Given the description of an element on the screen output the (x, y) to click on. 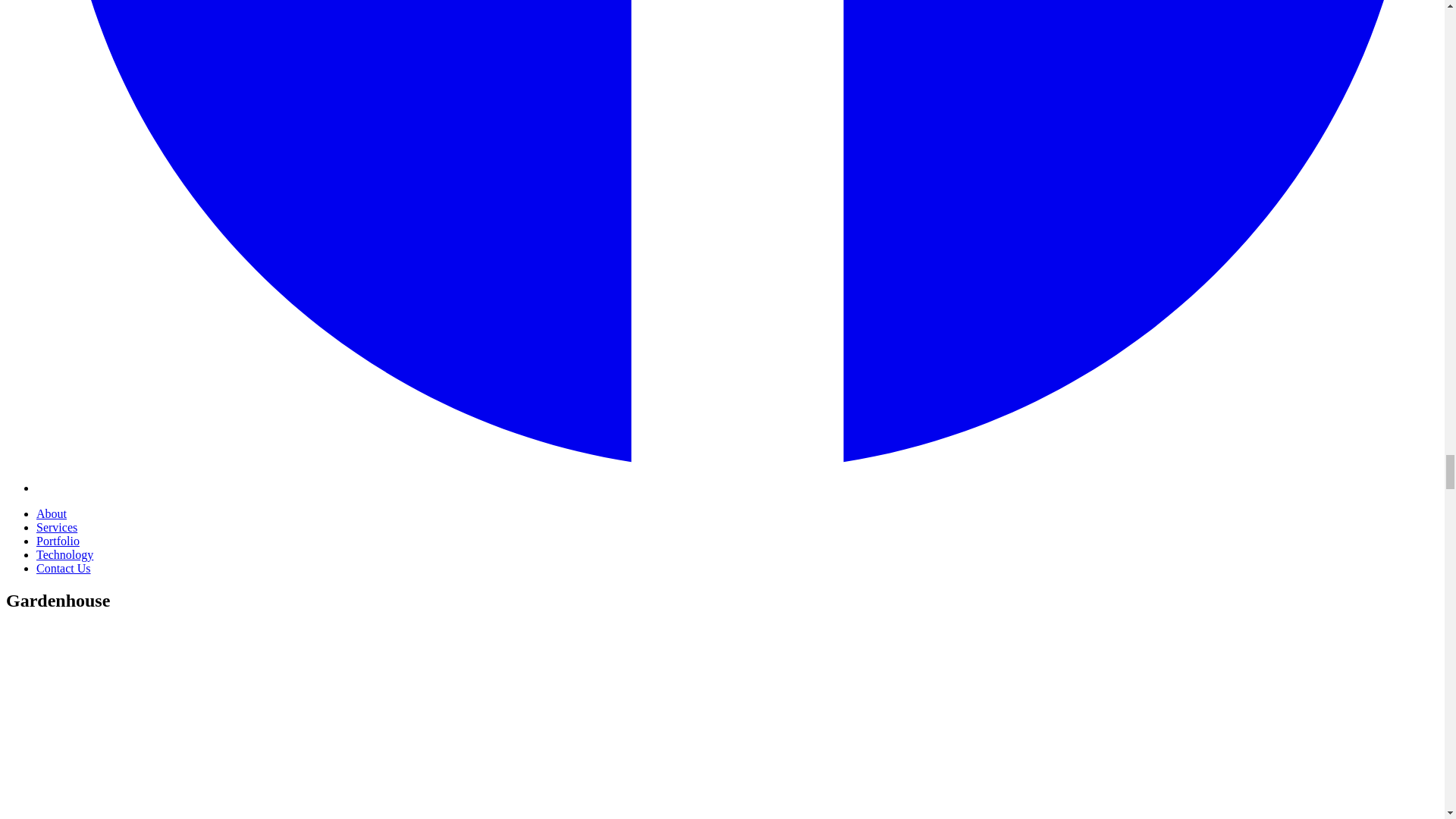
Portfolio (58, 540)
About (51, 513)
Services (56, 526)
Technology (64, 554)
Contact Us (63, 567)
